Given the description of an element on the screen output the (x, y) to click on. 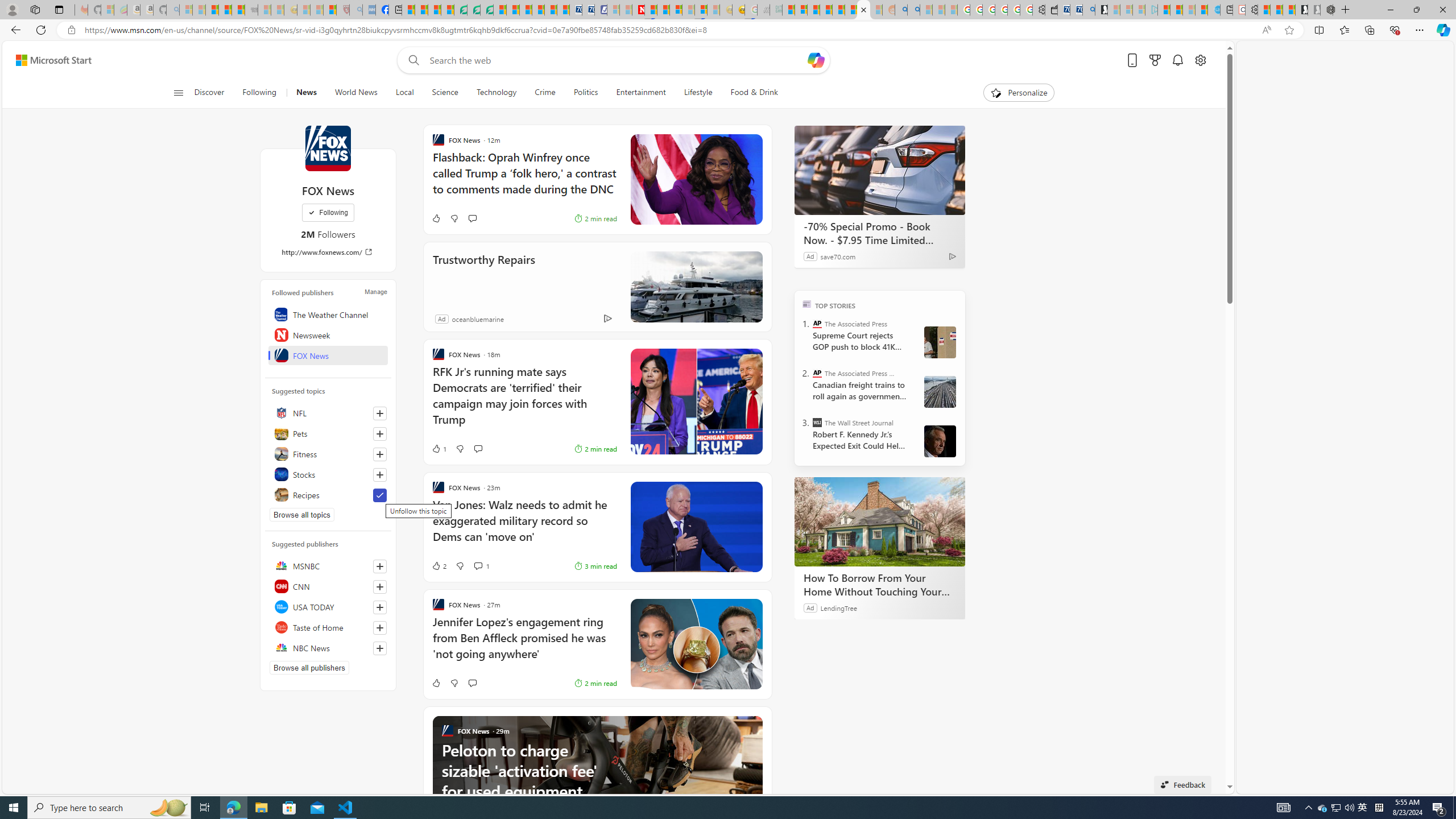
The Weather Channel (327, 314)
Browse all topics (301, 514)
Latest Politics News & Archive | Newsweek.com (638, 9)
Browse all publishers (309, 667)
